Given the description of an element on the screen output the (x, y) to click on. 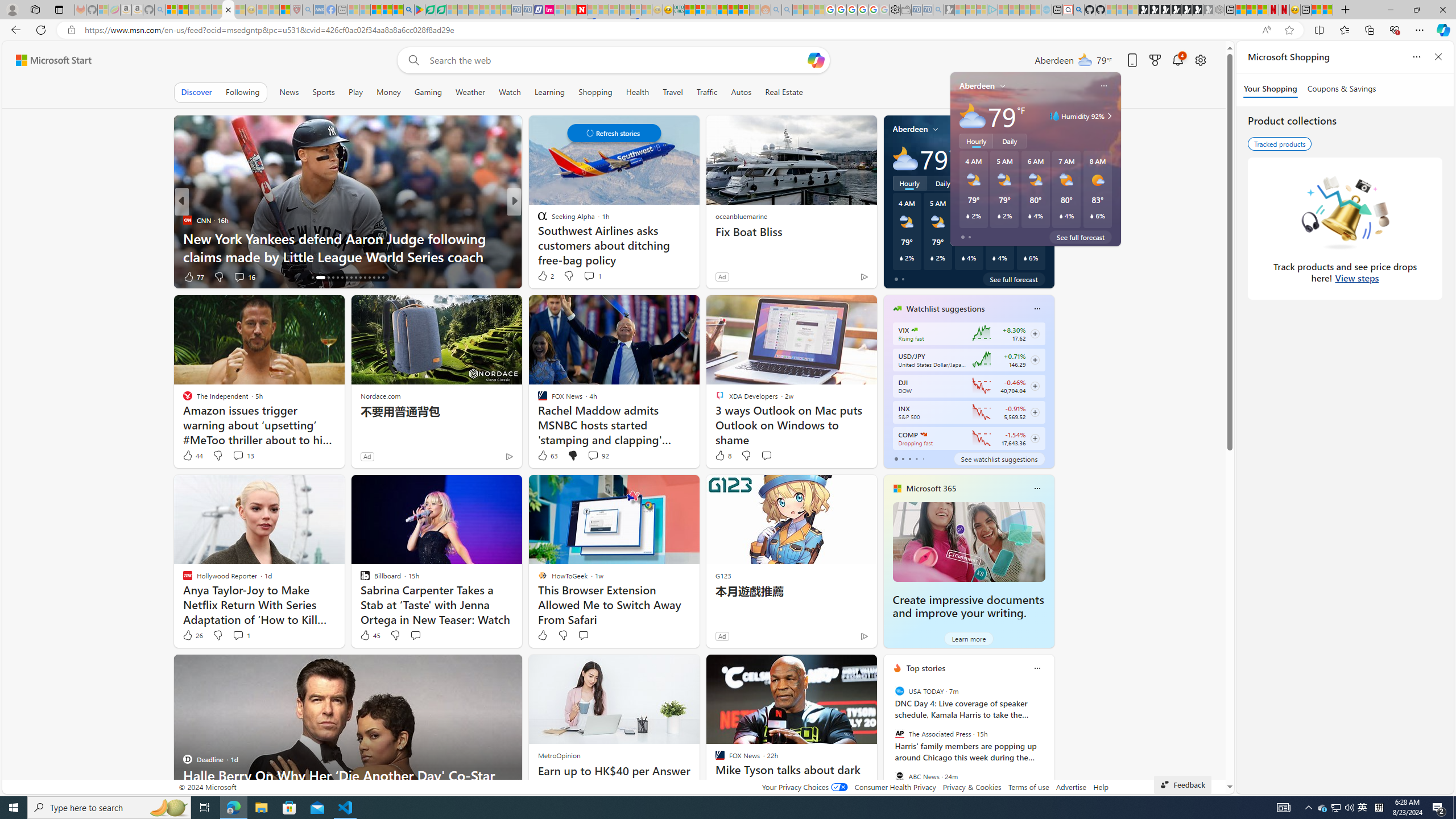
Bluey: Let's Play! - Apps on Google Play (419, 9)
Watchlist suggestions (945, 308)
AutomationID: tab-28 (374, 277)
